Given the description of an element on the screen output the (x, y) to click on. 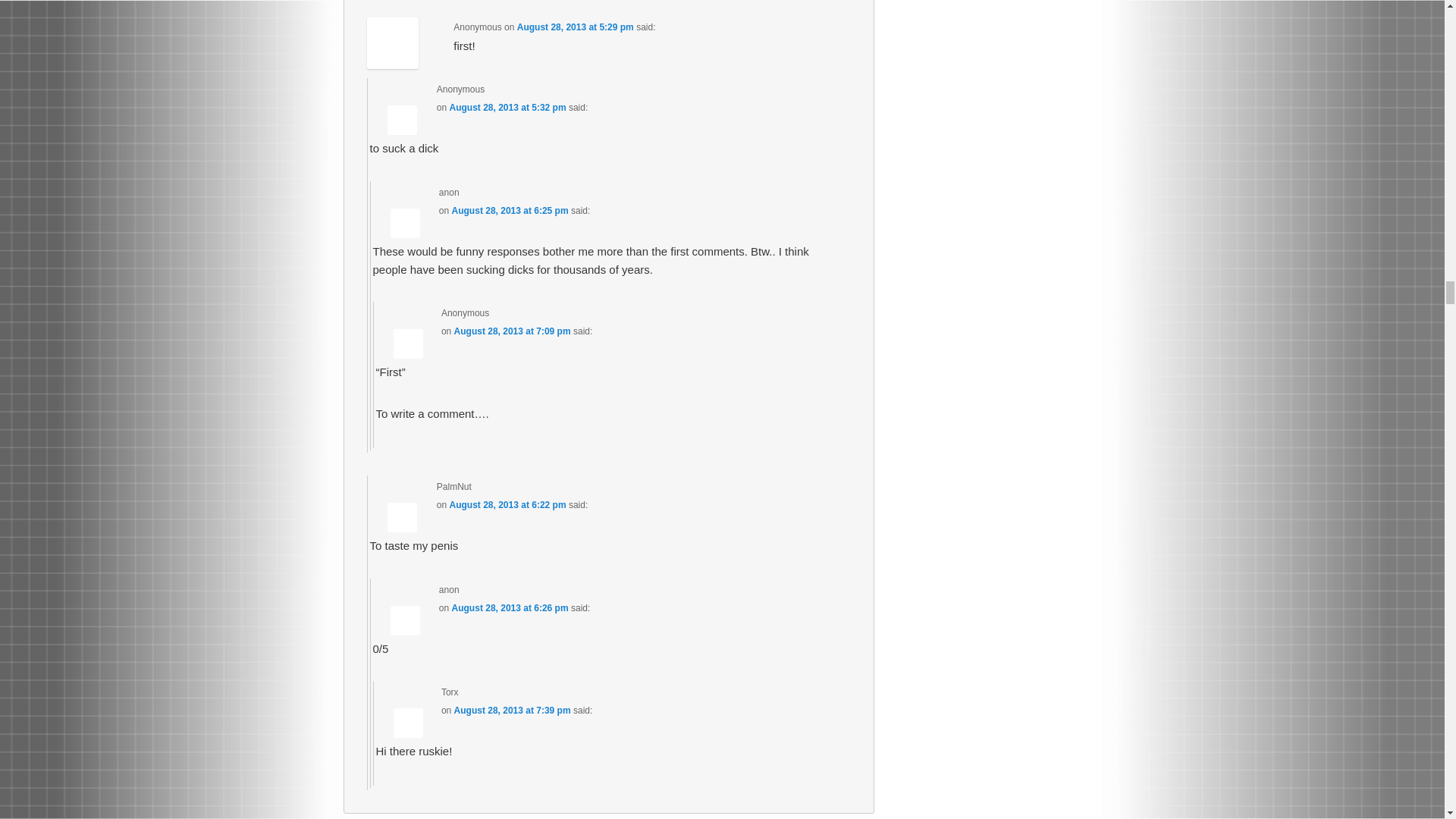
August 28, 2013 at 5:32 pm (507, 107)
August 28, 2013 at 6:26 pm (510, 607)
August 28, 2013 at 7:39 pm (512, 710)
August 28, 2013 at 5:29 pm (574, 27)
August 28, 2013 at 6:22 pm (507, 504)
August 28, 2013 at 7:09 pm (512, 330)
August 28, 2013 at 6:25 pm (510, 210)
